Given the description of an element on the screen output the (x, y) to click on. 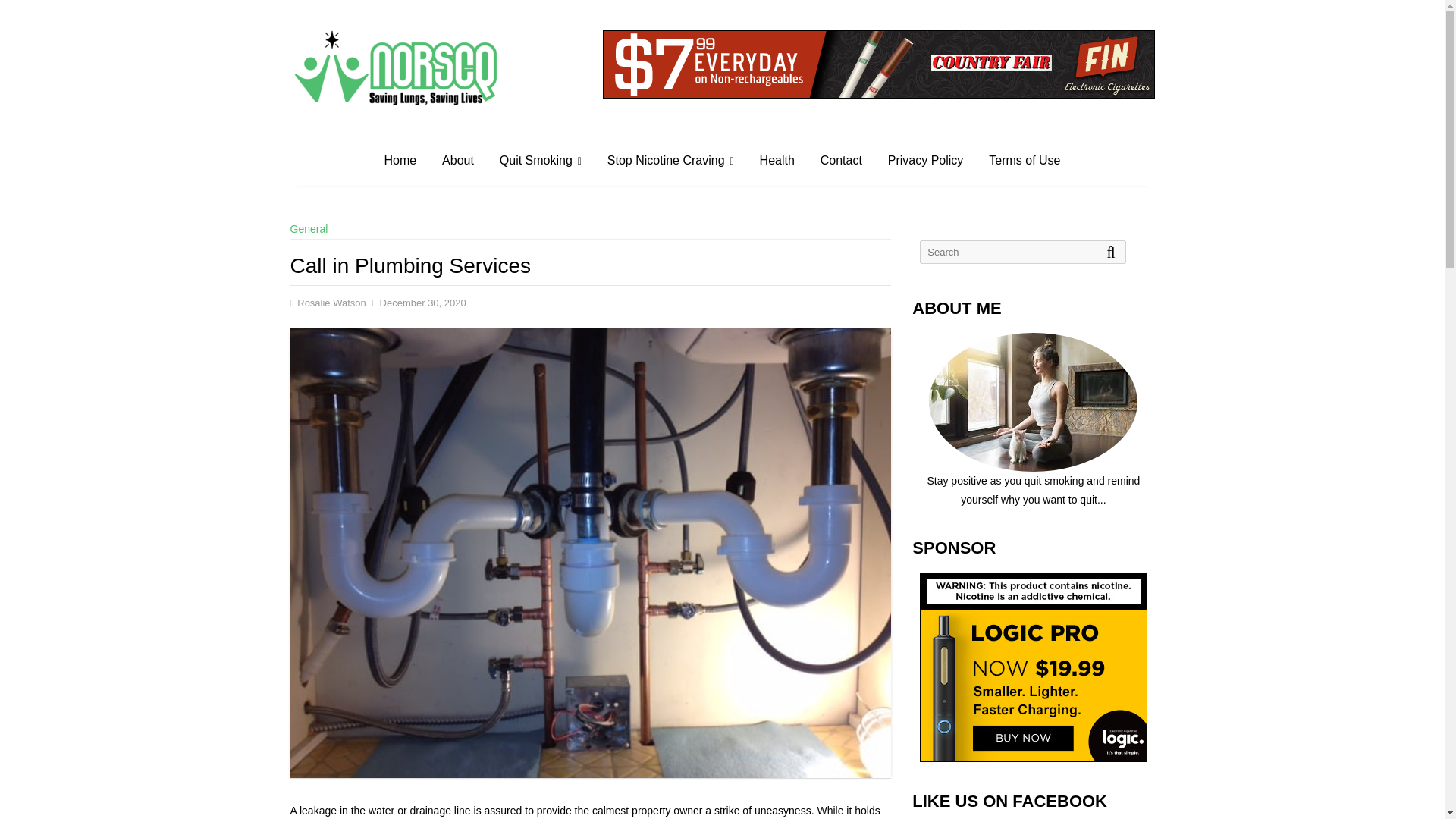
About (457, 160)
December 30, 2020 (418, 302)
Contact (841, 160)
Home (400, 160)
Privacy Policy (925, 160)
Quit Smoking (539, 160)
Stop Nicotine Craving (670, 160)
Terms of Use (1023, 160)
General (308, 228)
Rosalie Watson (327, 302)
Health (777, 160)
